Given the description of an element on the screen output the (x, y) to click on. 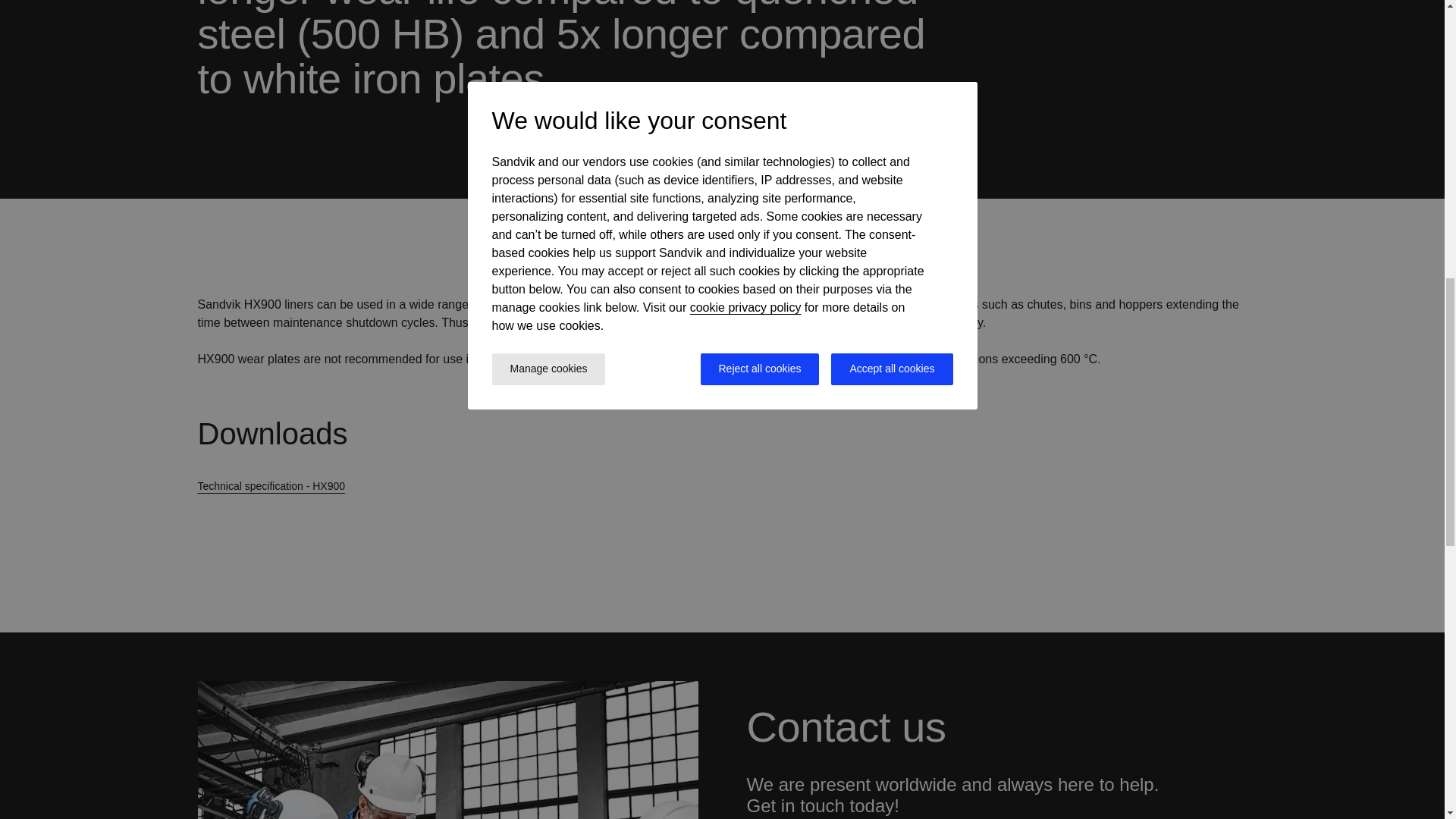
Technical specification - HX900 (287, 486)
